Given the description of an element on the screen output the (x, y) to click on. 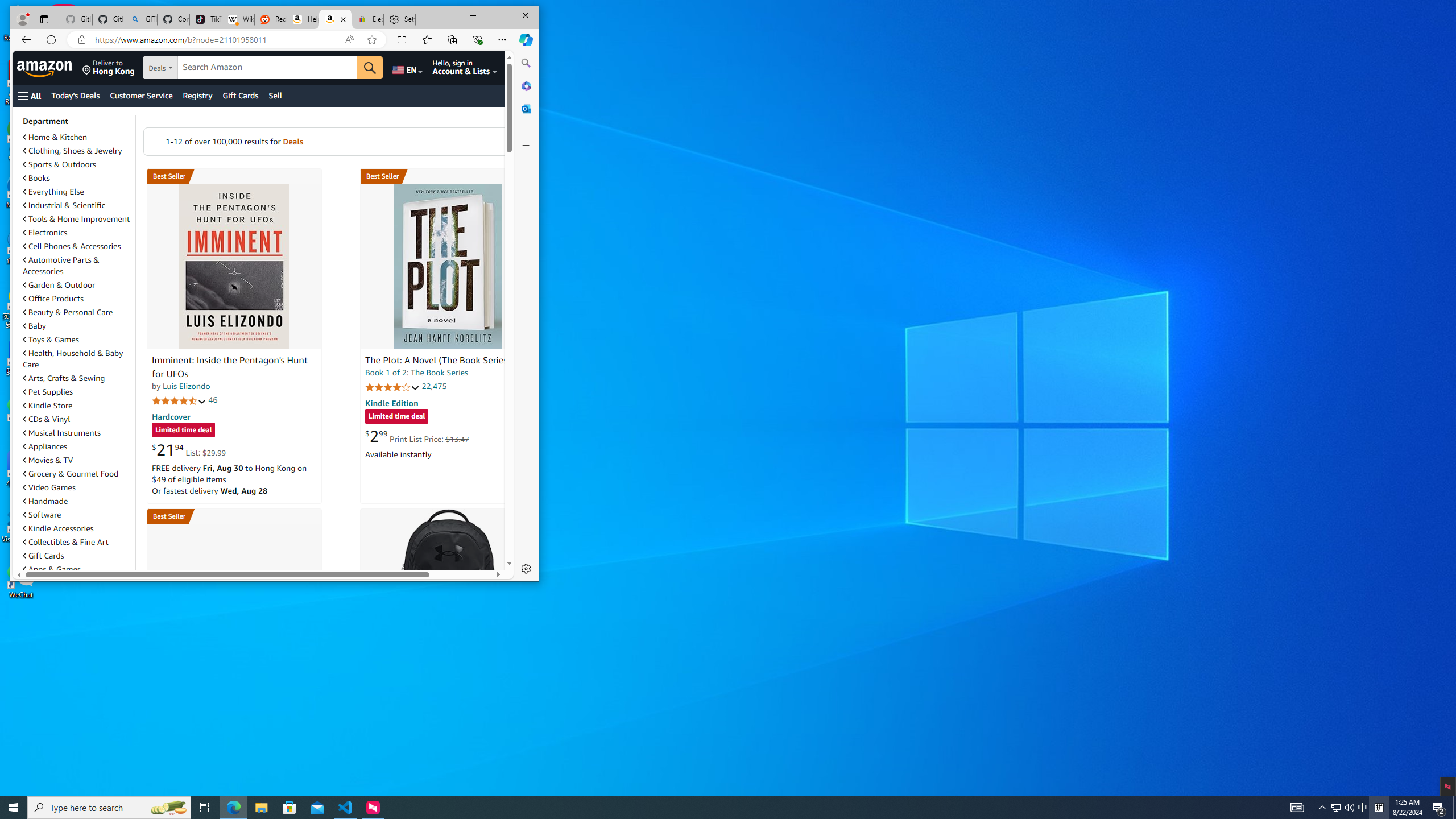
46 (213, 399)
Q2790: 100% (1349, 807)
Musical Instruments (61, 432)
Grocery & Gourmet Food (71, 473)
